Given the description of an element on the screen output the (x, y) to click on. 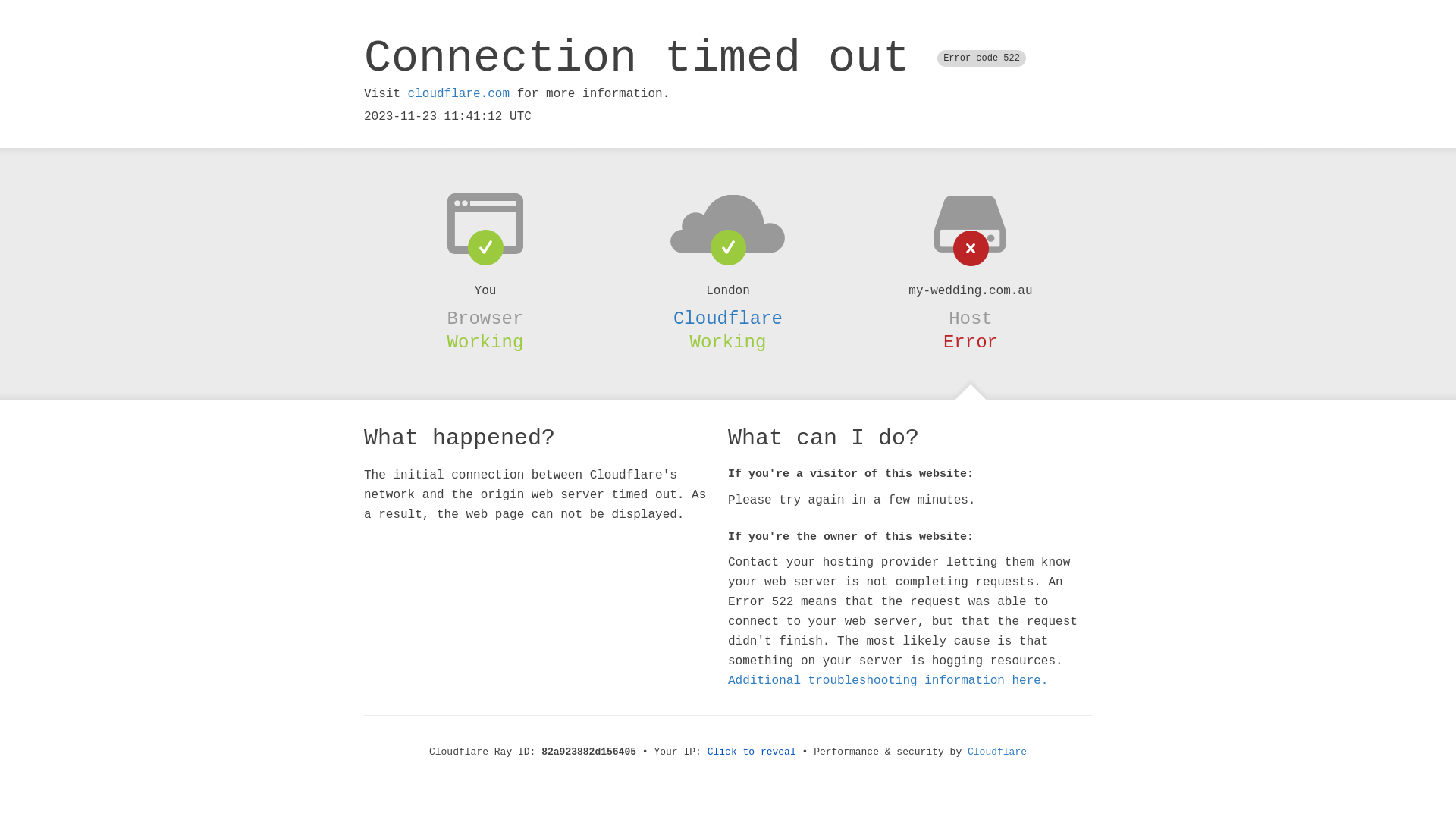
Click to reveal Element type: text (751, 751)
cloudflare.com Element type: text (458, 93)
Cloudflare Element type: text (727, 318)
Cloudflare Element type: text (996, 751)
Additional troubleshooting information here. Element type: text (888, 680)
